Given the description of an element on the screen output the (x, y) to click on. 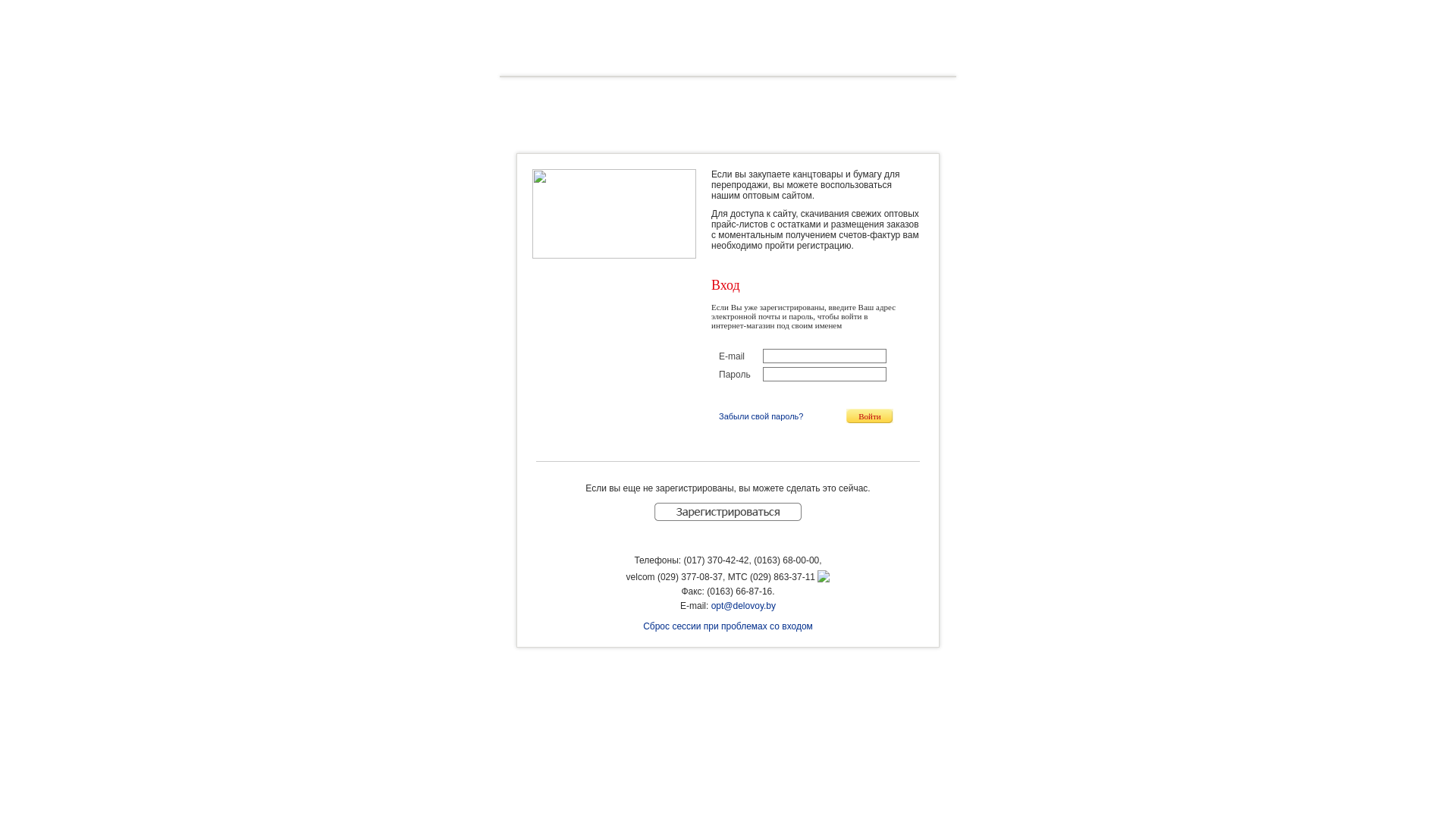
opt@delovoy.by Element type: text (743, 605)
